Given the description of an element on the screen output the (x, y) to click on. 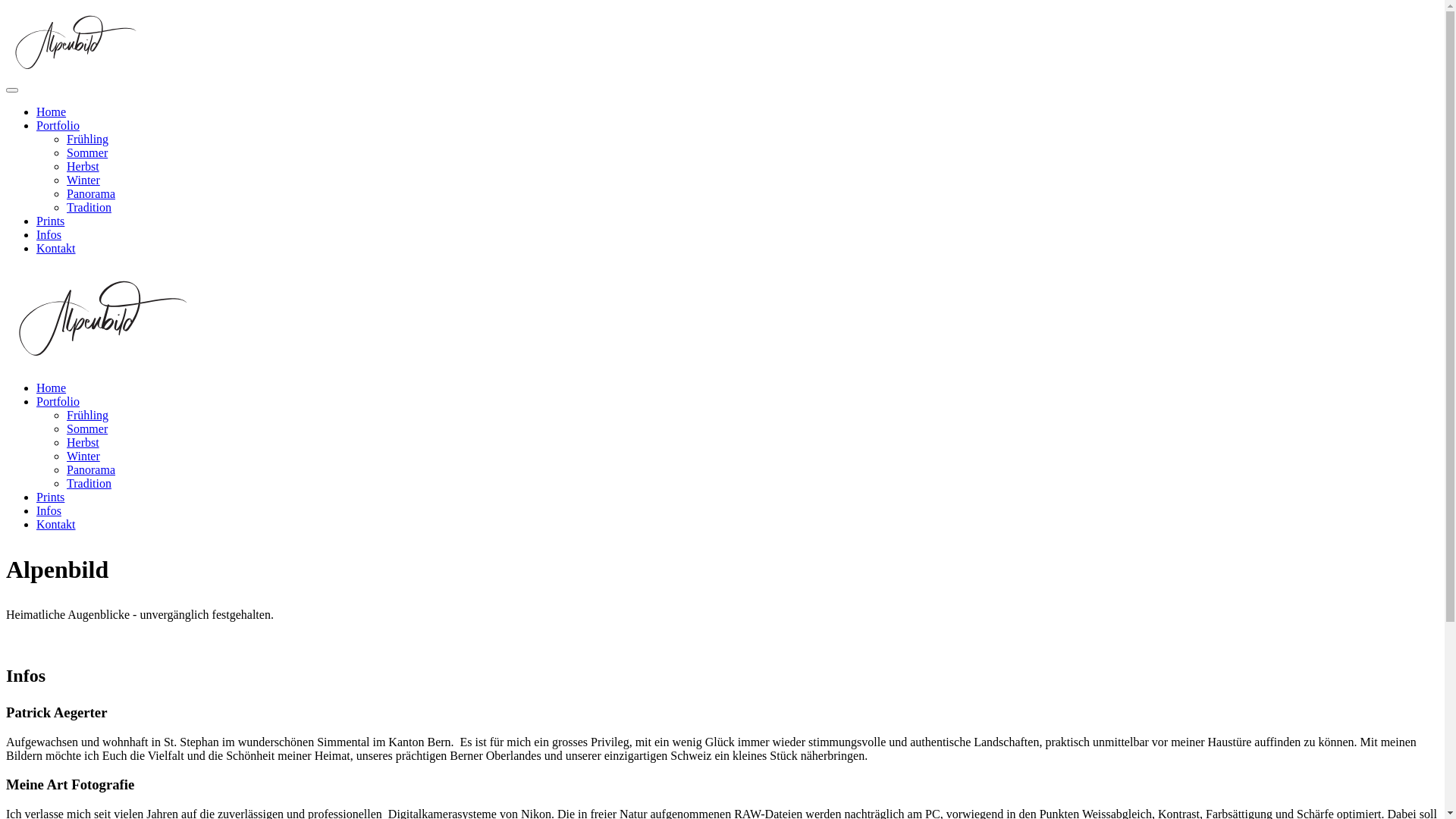
Portfolio Element type: text (57, 125)
Herbst Element type: text (82, 166)
Portfolio Element type: text (57, 401)
Home Element type: text (50, 387)
Panorama Element type: text (90, 193)
Infos Element type: text (48, 234)
Winter Element type: text (83, 455)
Infos Element type: text (48, 510)
Kontakt Element type: text (55, 247)
Prints Element type: text (50, 496)
Winter Element type: text (83, 179)
Tradition Element type: text (88, 482)
Herbst Element type: text (82, 442)
Kontakt Element type: text (55, 523)
Tradition Element type: text (88, 206)
Home Element type: text (50, 111)
Sommer Element type: text (86, 428)
Sommer Element type: text (86, 152)
Prints Element type: text (50, 220)
Panorama Element type: text (90, 469)
